Given the description of an element on the screen output the (x, y) to click on. 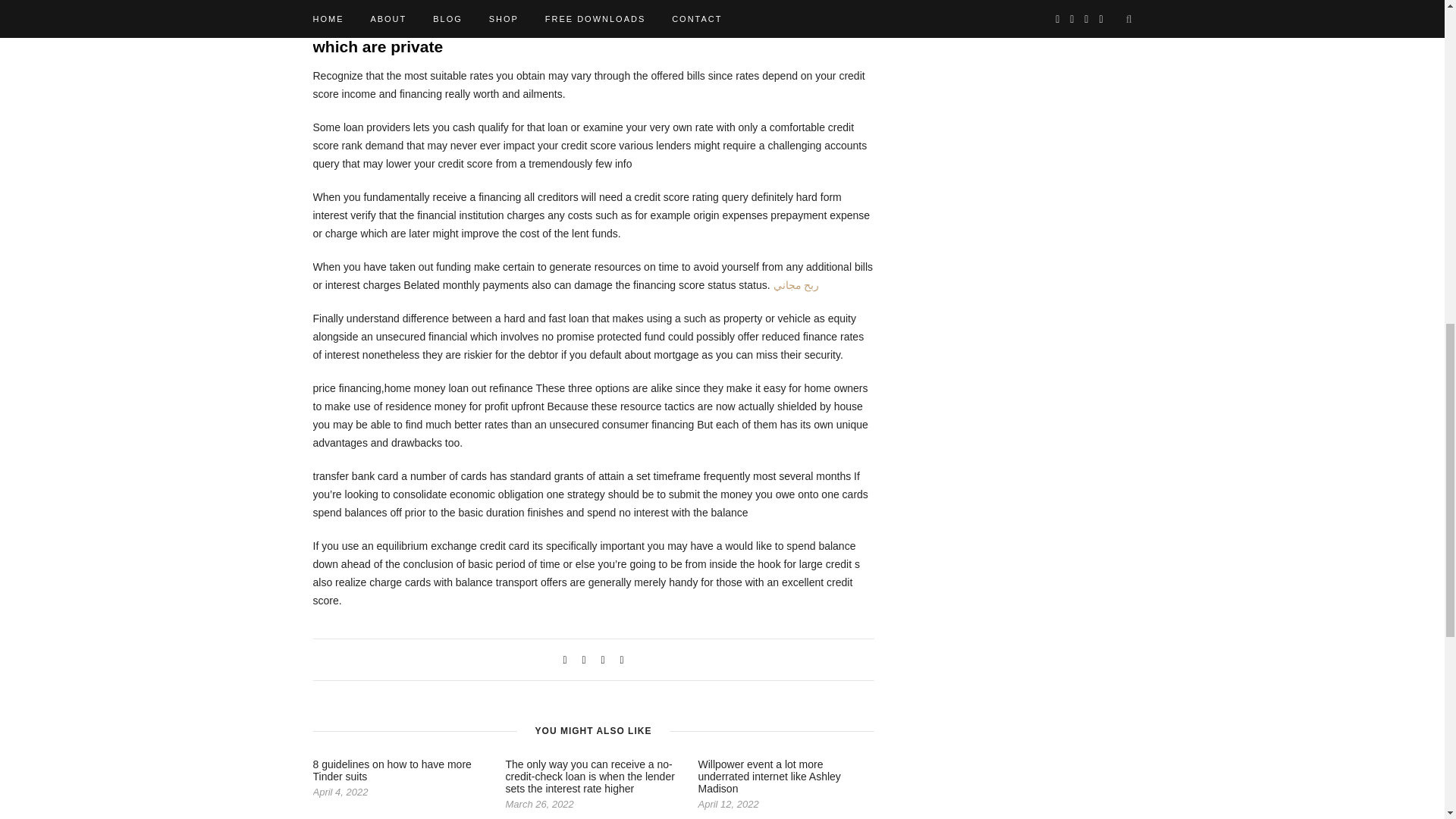
8 guidelines on how to have more Tinder suits (391, 770)
